Given the description of an element on the screen output the (x, y) to click on. 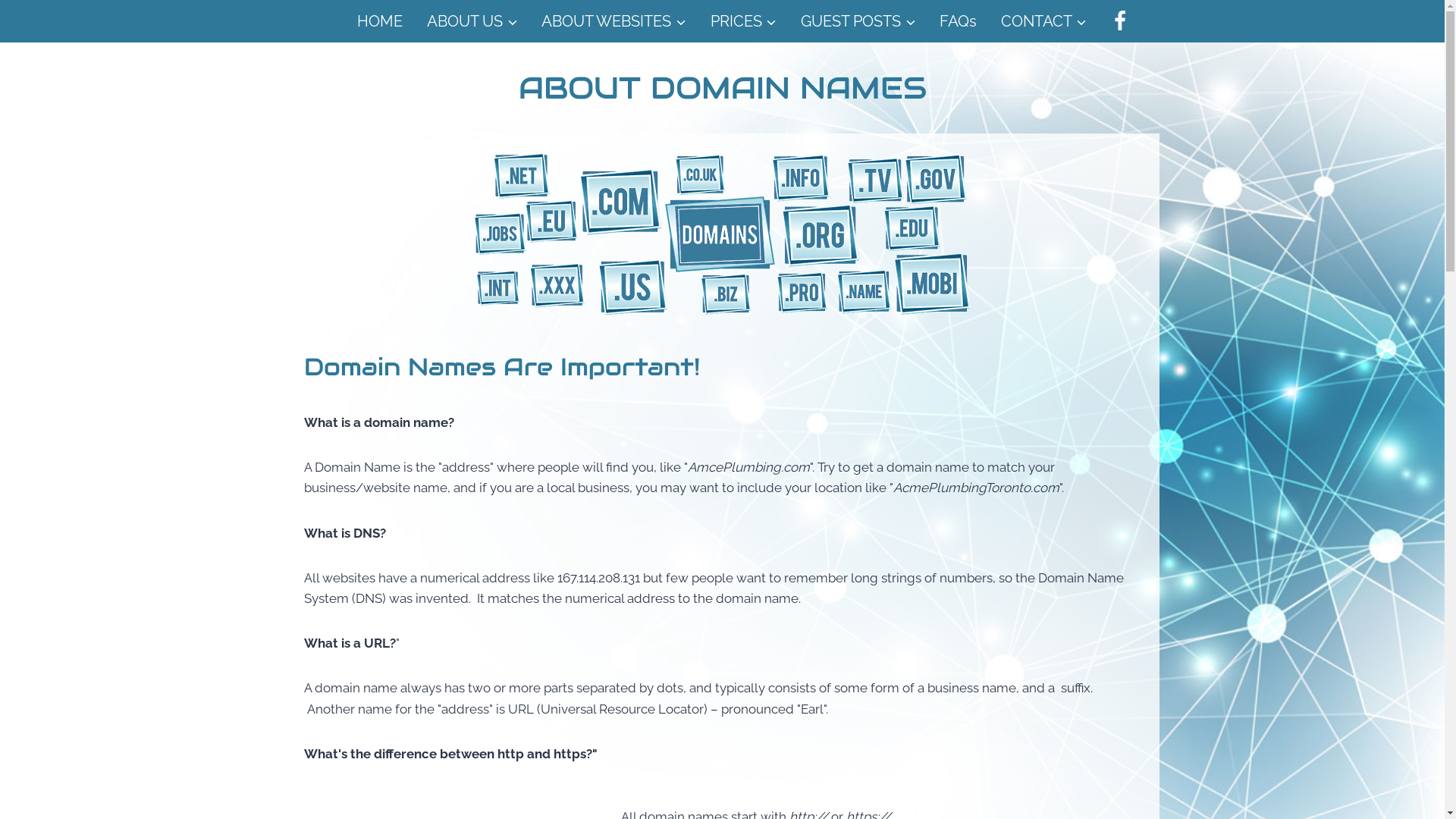
About Domain Names 1 Element type: hover (722, 233)
FAQs Element type: text (958, 21)
PRICES Element type: text (743, 21)
ABOUT WEBSITES Element type: text (613, 21)
GUEST POSTS Element type: text (857, 21)
CONTACT Element type: text (1043, 21)
ABOUT US Element type: text (471, 21)
HOME Element type: text (379, 21)
